Given the description of an element on the screen output the (x, y) to click on. 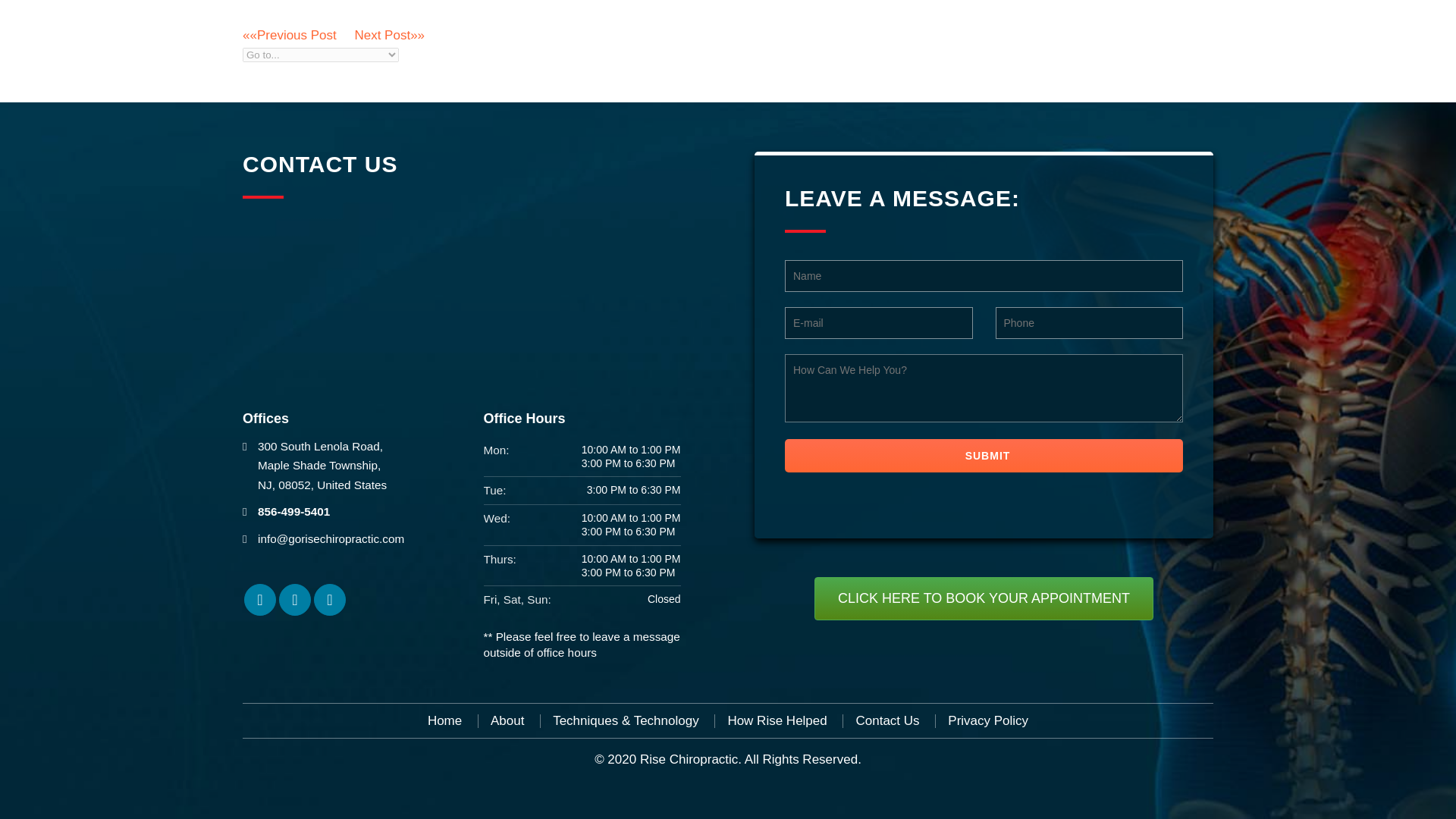
Submit (983, 455)
Submit (983, 455)
Instagram (295, 599)
CLICK HERE TO BOOK YOUR APPOINTMENT (983, 598)
How Rise Helped (776, 721)
Google Map (330, 599)
View Map (322, 465)
Privacy Policy (987, 721)
856-499-5401 (293, 511)
About (507, 721)
Facebook (260, 599)
Contact Us (887, 721)
Home (444, 721)
